Given the description of an element on the screen output the (x, y) to click on. 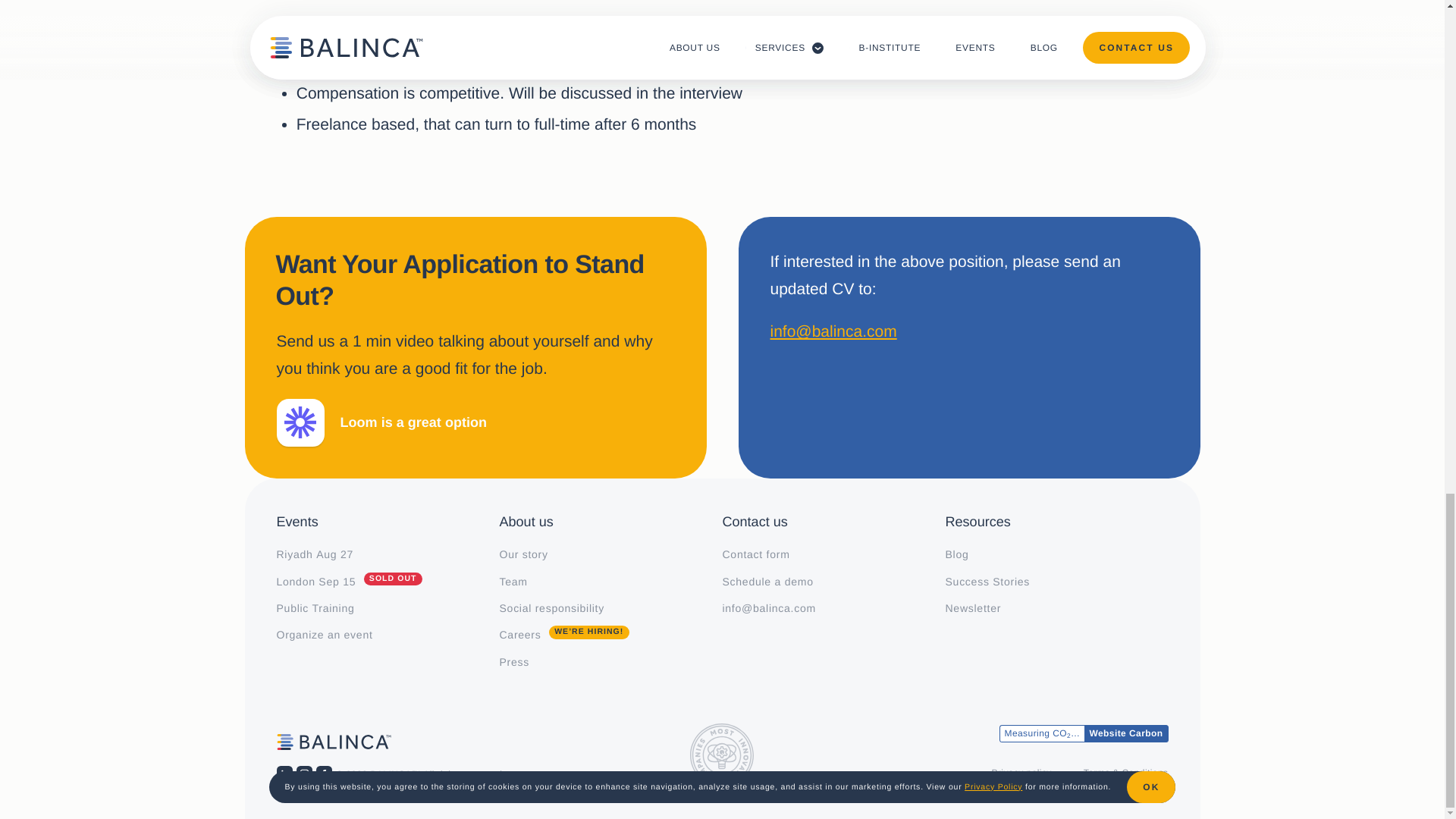
Blog (1055, 554)
Schedule a demo (833, 581)
Website Carbon (1125, 733)
Our story (387, 554)
Events (610, 554)
Contact form (387, 525)
Press (387, 581)
Success Stories (833, 554)
